Given the description of an element on the screen output the (x, y) to click on. 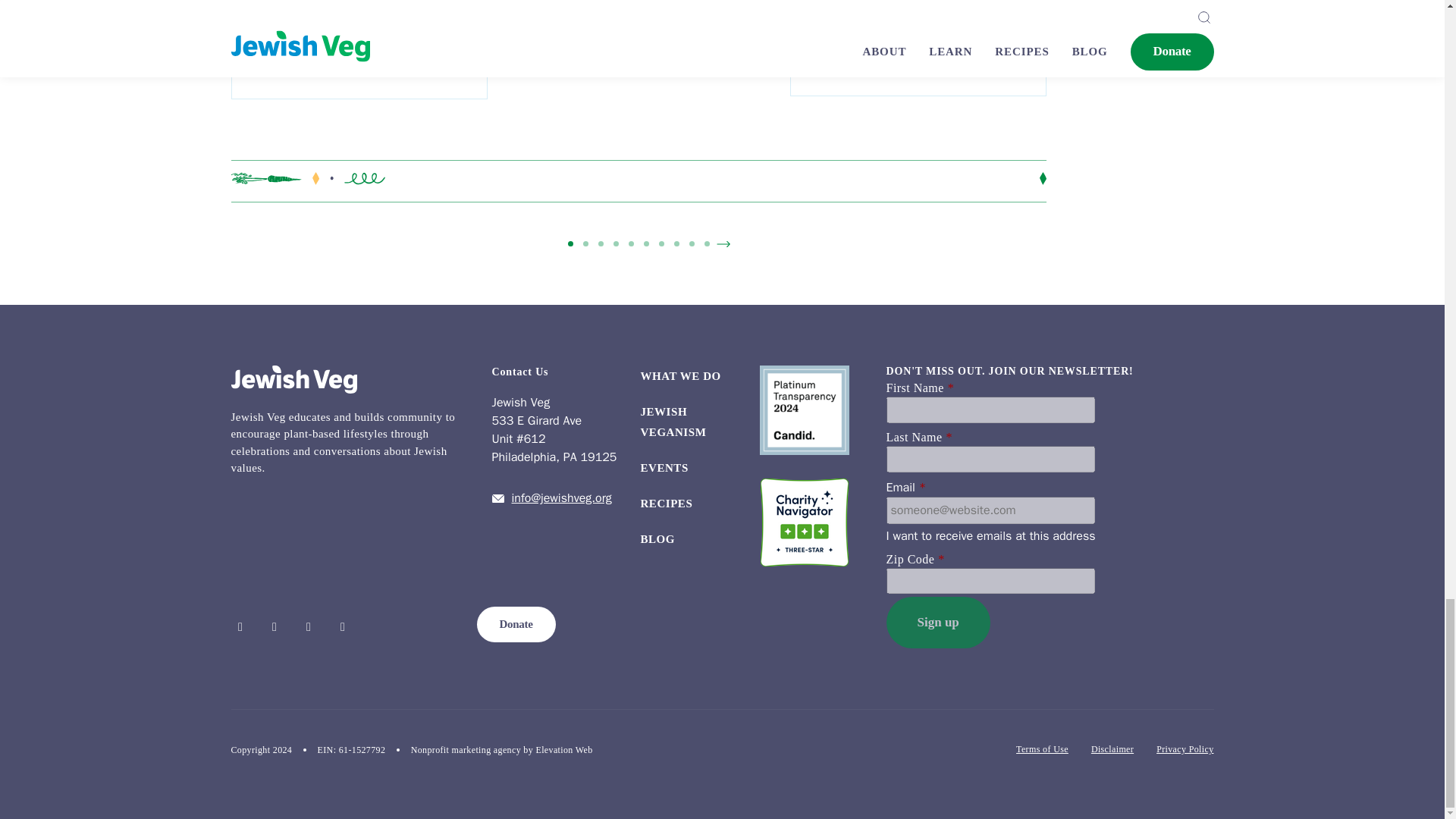
RECIPES (666, 503)
What We Do (680, 376)
EVENTS (663, 467)
Jewish Veganism (673, 421)
JEWISH VEGANISM (673, 421)
WHAT WE DO (680, 376)
Events (663, 467)
Sign up (937, 622)
